Given the description of an element on the screen output the (x, y) to click on. 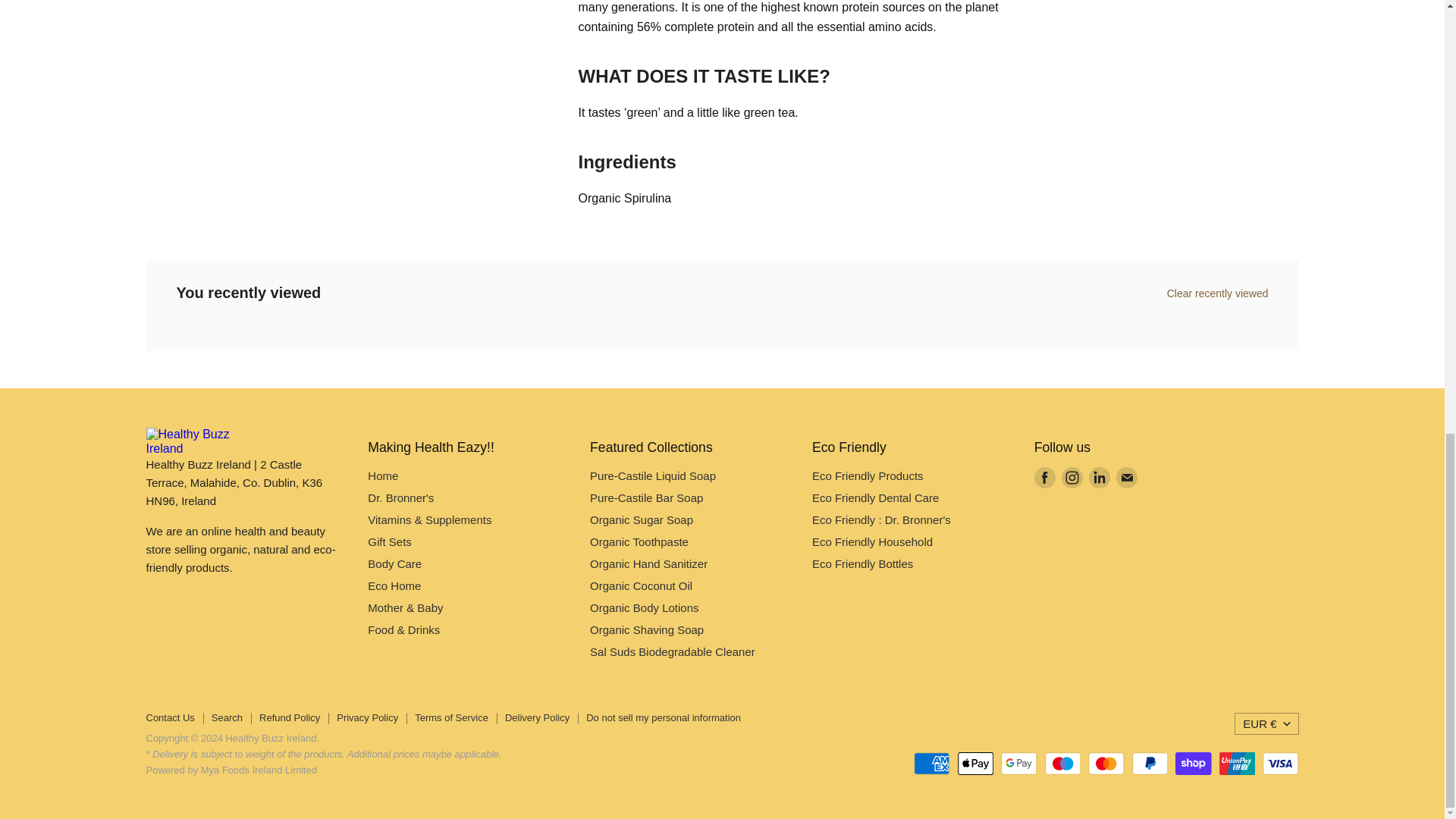
Facebook (1044, 477)
Instagram (1072, 477)
LinkedIn (1099, 477)
E-mail (1126, 477)
